Given the description of an element on the screen output the (x, y) to click on. 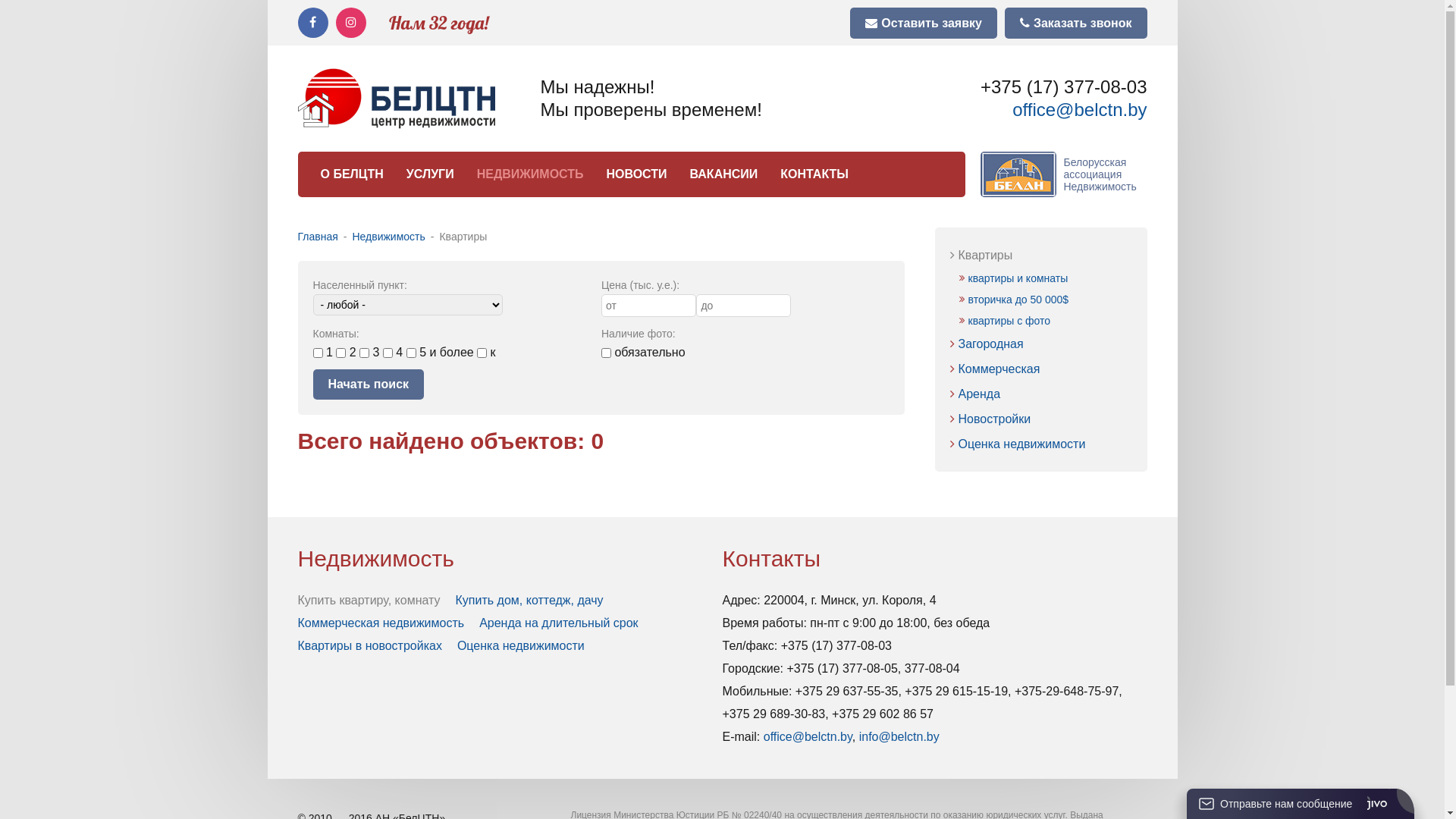
info@belctn.by Element type: text (899, 736)
office@belctn.by Element type: text (807, 736)
office@belctn.by Element type: text (1079, 109)
